Given the description of an element on the screen output the (x, y) to click on. 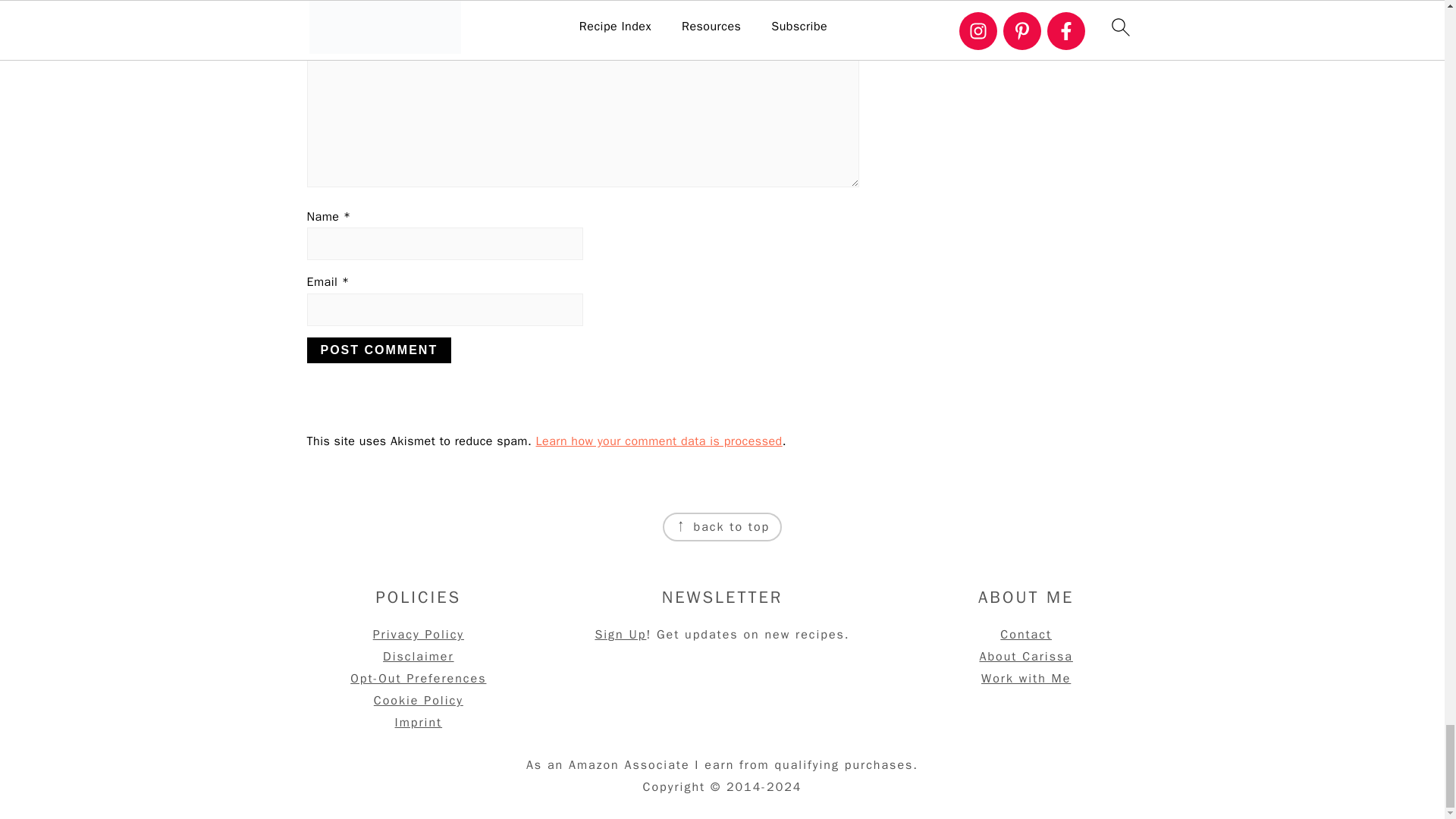
Post Comment (378, 350)
